Given the description of an element on the screen output the (x, y) to click on. 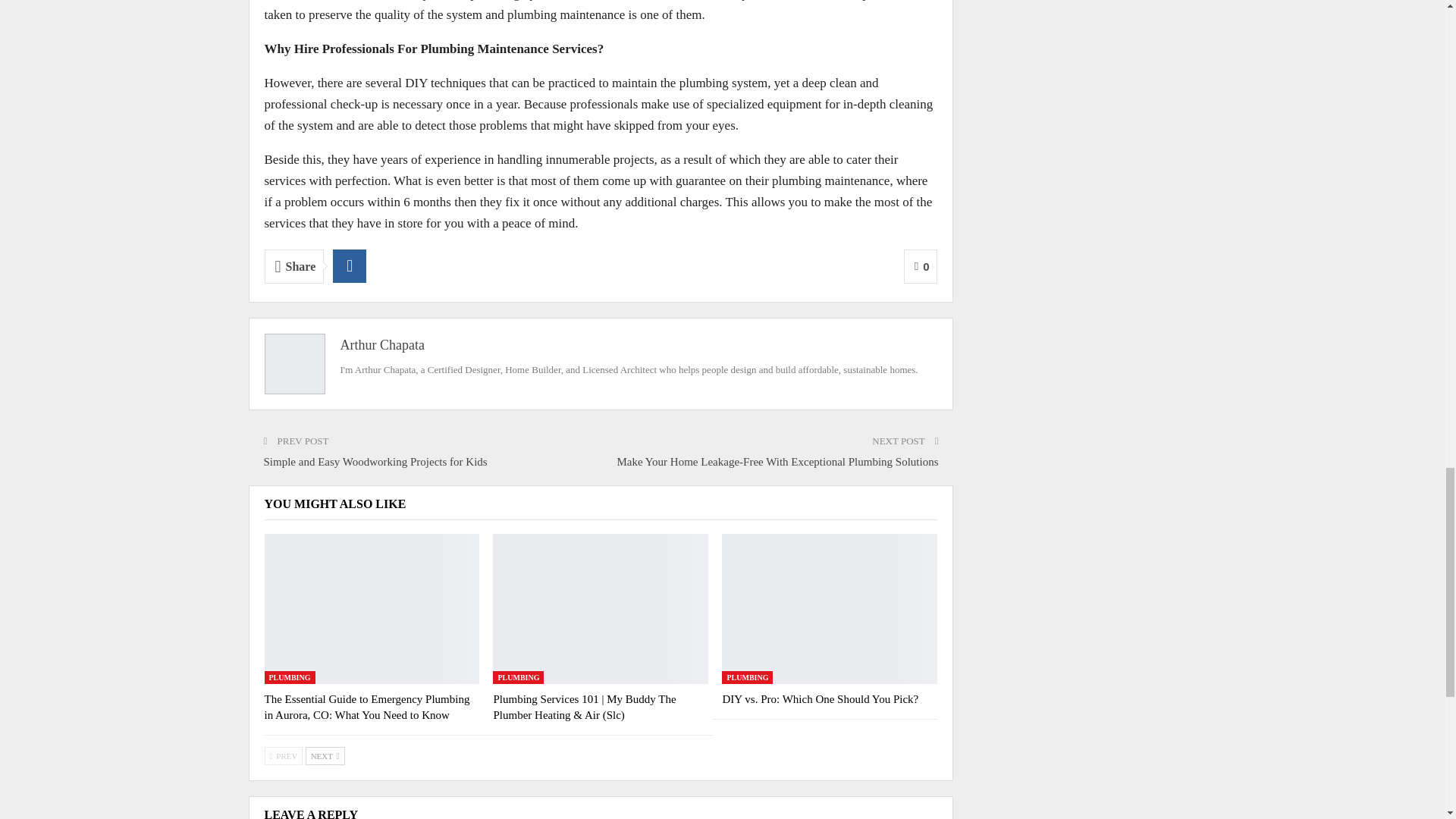
0 (920, 266)
YOU MIGHT ALSO LIKE (334, 503)
PLUMBING (288, 676)
PLUMBING (518, 676)
Simple and Easy Woodworking Projects for Kids (375, 461)
Arthur Chapata (381, 344)
